Given the description of an element on the screen output the (x, y) to click on. 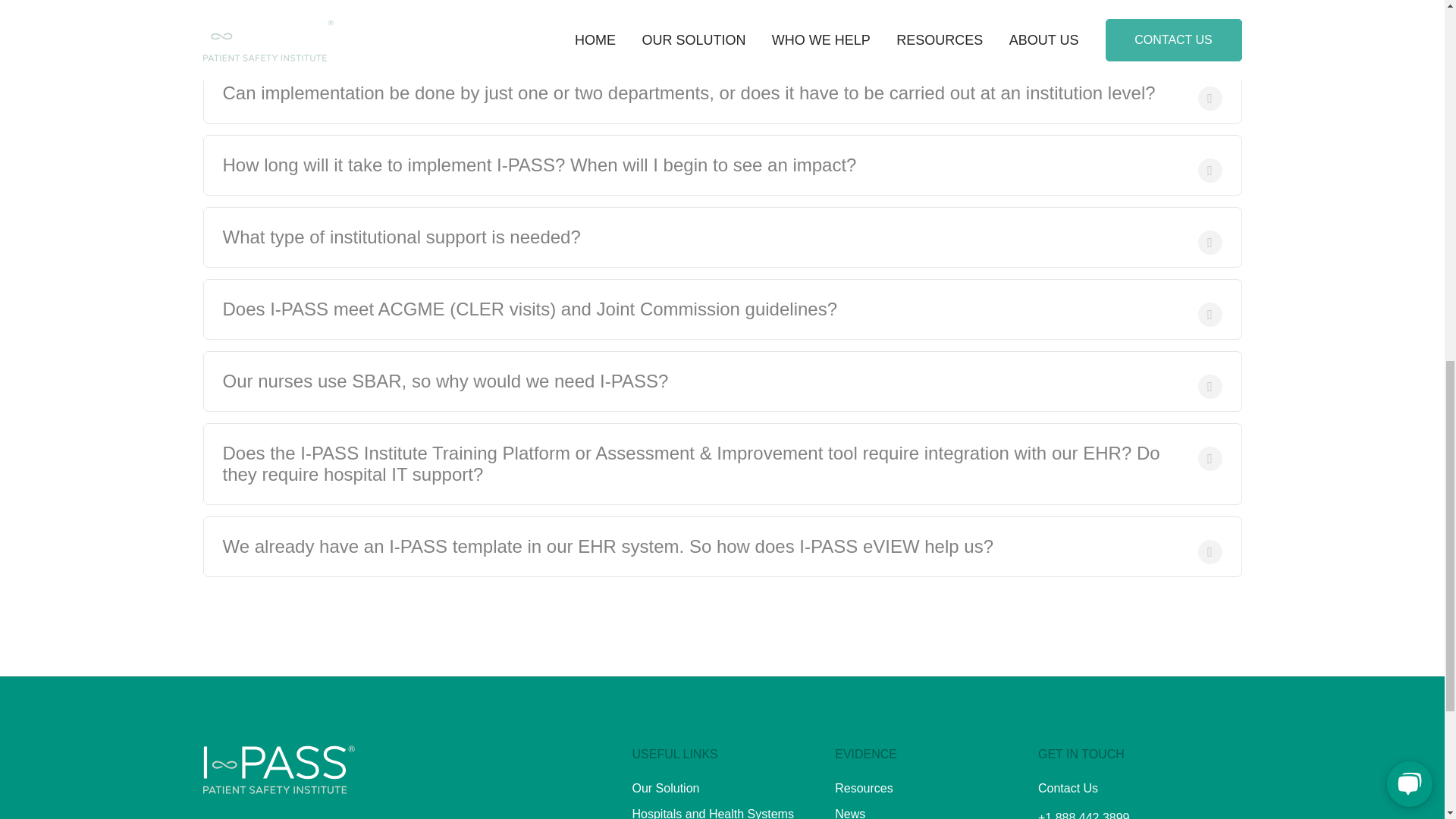
Hospitals and Health Systems (712, 813)
News (849, 813)
Contact Us (1067, 788)
Resources (863, 788)
Our Solution (665, 788)
